Given the description of an element on the screen output the (x, y) to click on. 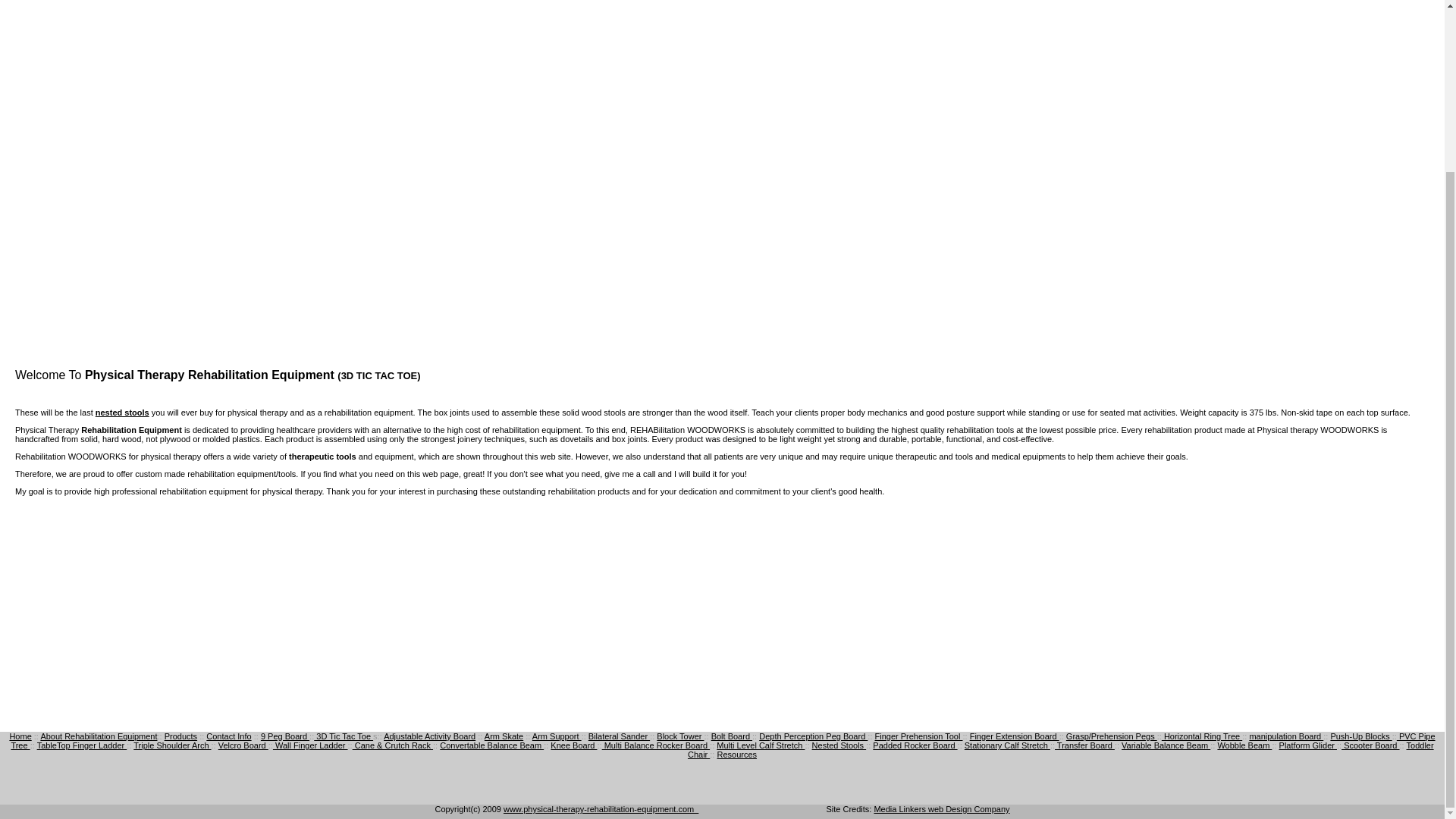
Products (180, 736)
Convertable Balance Beam (491, 745)
Knee Board (573, 745)
Adjustable Activity Board (430, 736)
PVC Pipe Tree (722, 741)
About Rehabilitation Equipment (98, 736)
Padded Rocker Board (914, 745)
Arm Support (556, 736)
Advertisement (721, 610)
Multi Level Calf Stretch (760, 745)
Transfer Board (1084, 745)
Stationary Calf Stretch (1006, 745)
Nested Stools (839, 745)
Advertisement (141, 259)
Contact Info (228, 736)
